Given the description of an element on the screen output the (x, y) to click on. 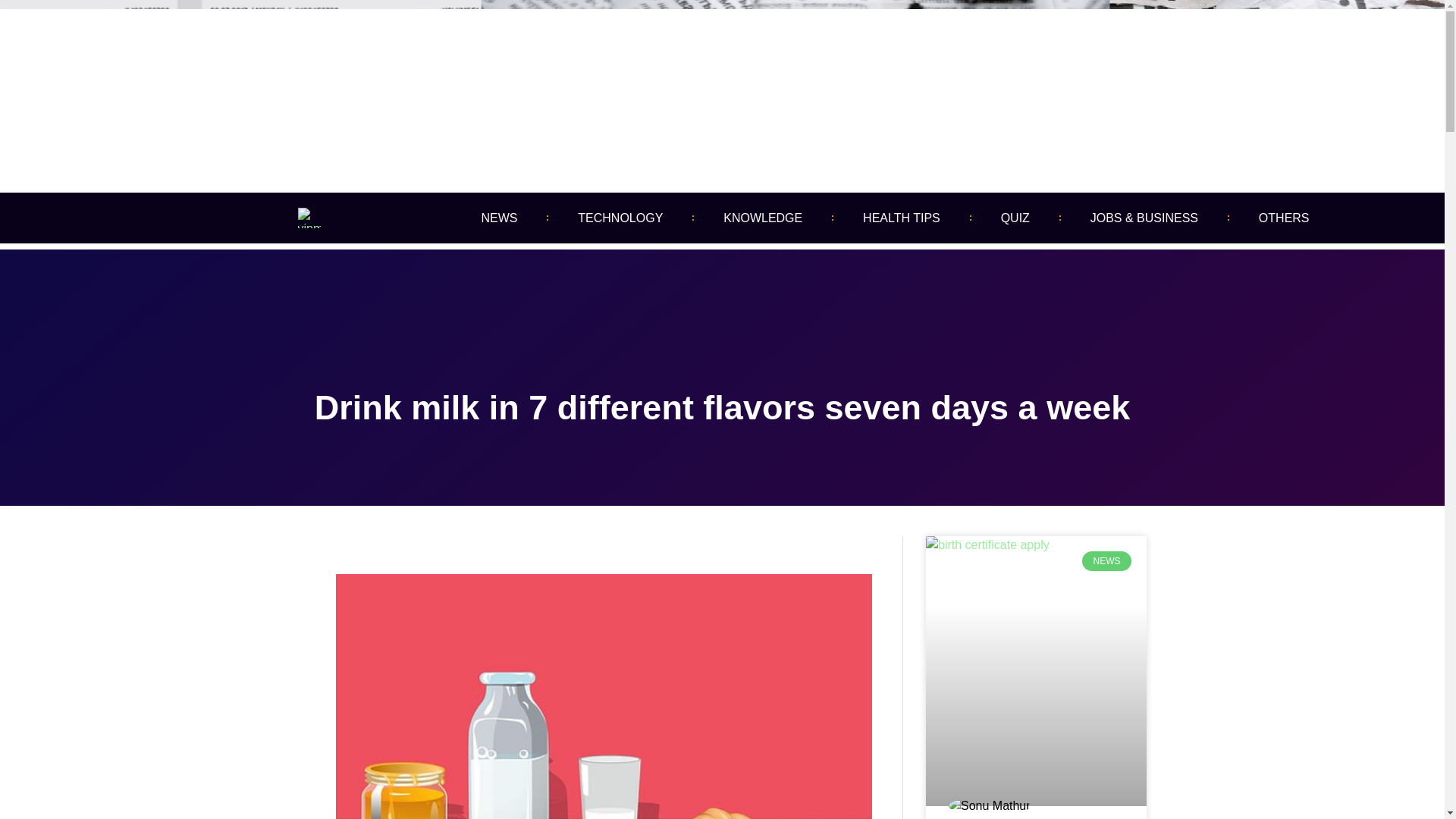
OTHERS (1283, 218)
TECHNOLOGY (619, 218)
HEALTH TIPS (900, 218)
KNOWLEDGE (762, 218)
NEWS (498, 218)
QUIZ (1015, 218)
